Given the description of an element on the screen output the (x, y) to click on. 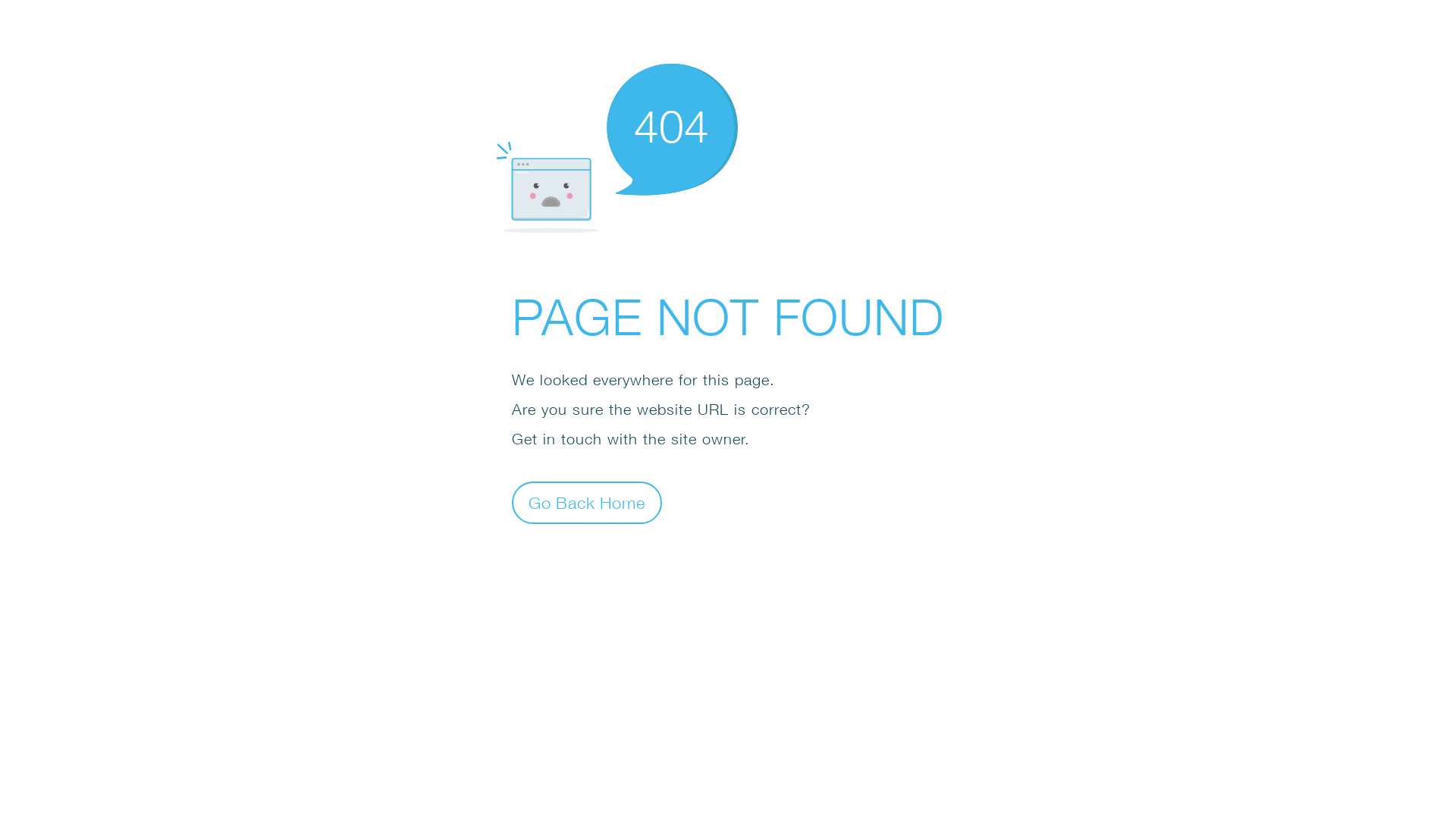
Go Back Home Element type: text (586, 502)
